Given the description of an element on the screen output the (x, y) to click on. 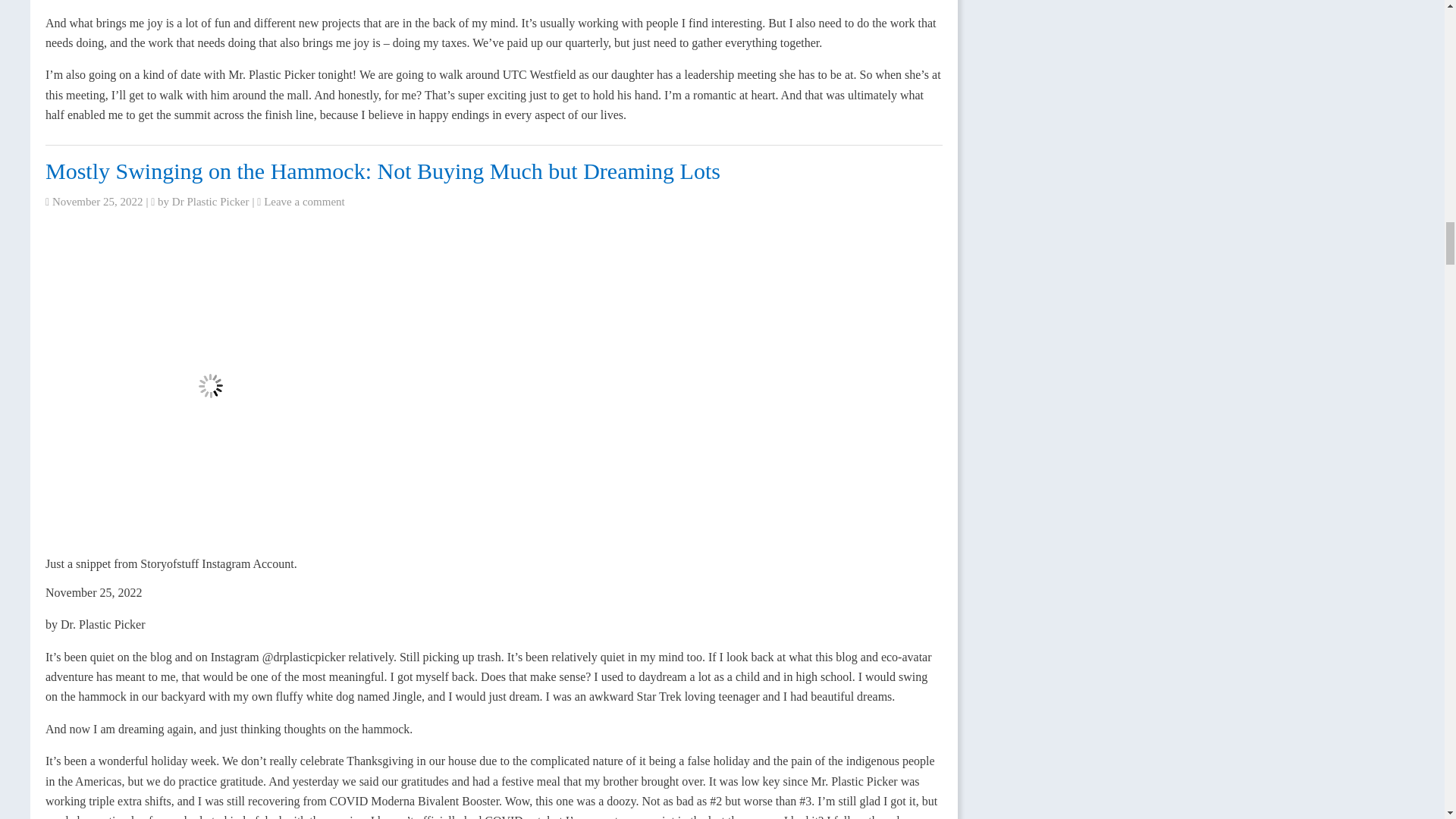
Leave a comment (304, 201)
Dr Plastic Picker (209, 201)
